Given the description of an element on the screen output the (x, y) to click on. 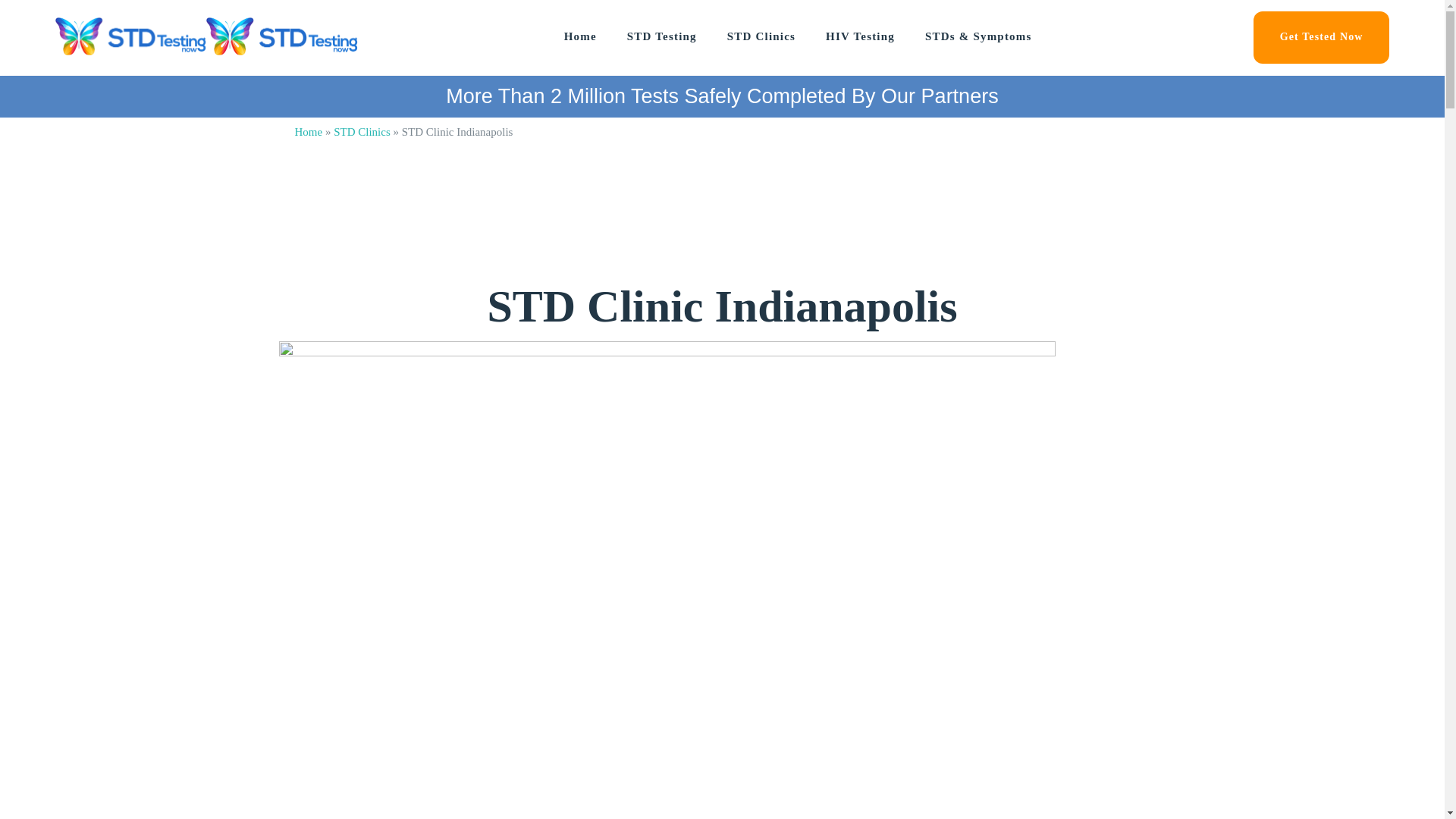
Home (307, 132)
Get Tested Now (1321, 37)
HIV Testing (860, 36)
Home (580, 36)
STD Clinics (760, 36)
STD Testing (662, 36)
STD Clinics (361, 132)
